Given the description of an element on the screen output the (x, y) to click on. 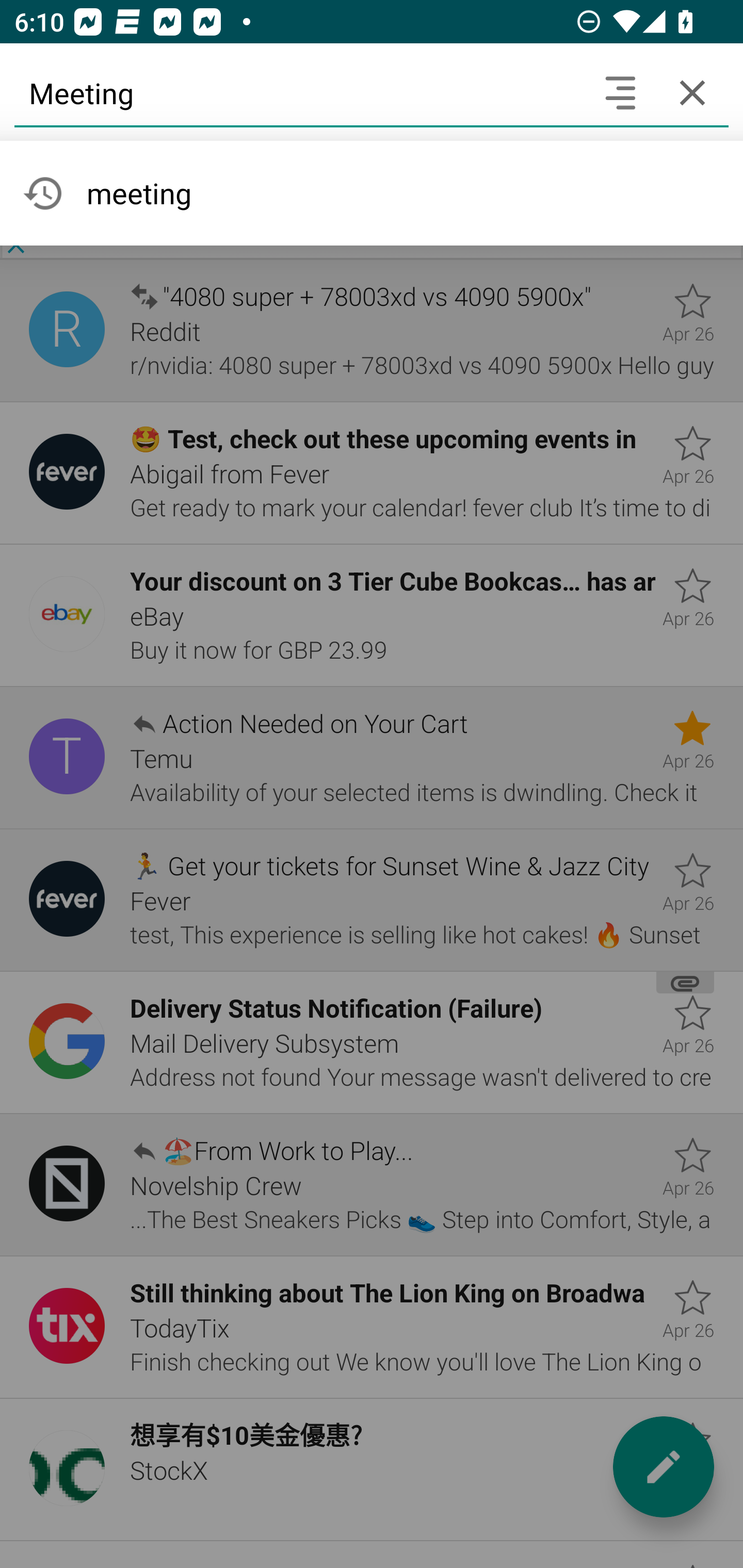
Meeting (298, 92)
Search headers and text (619, 92)
Cancel (692, 92)
